Given the description of an element on the screen output the (x, y) to click on. 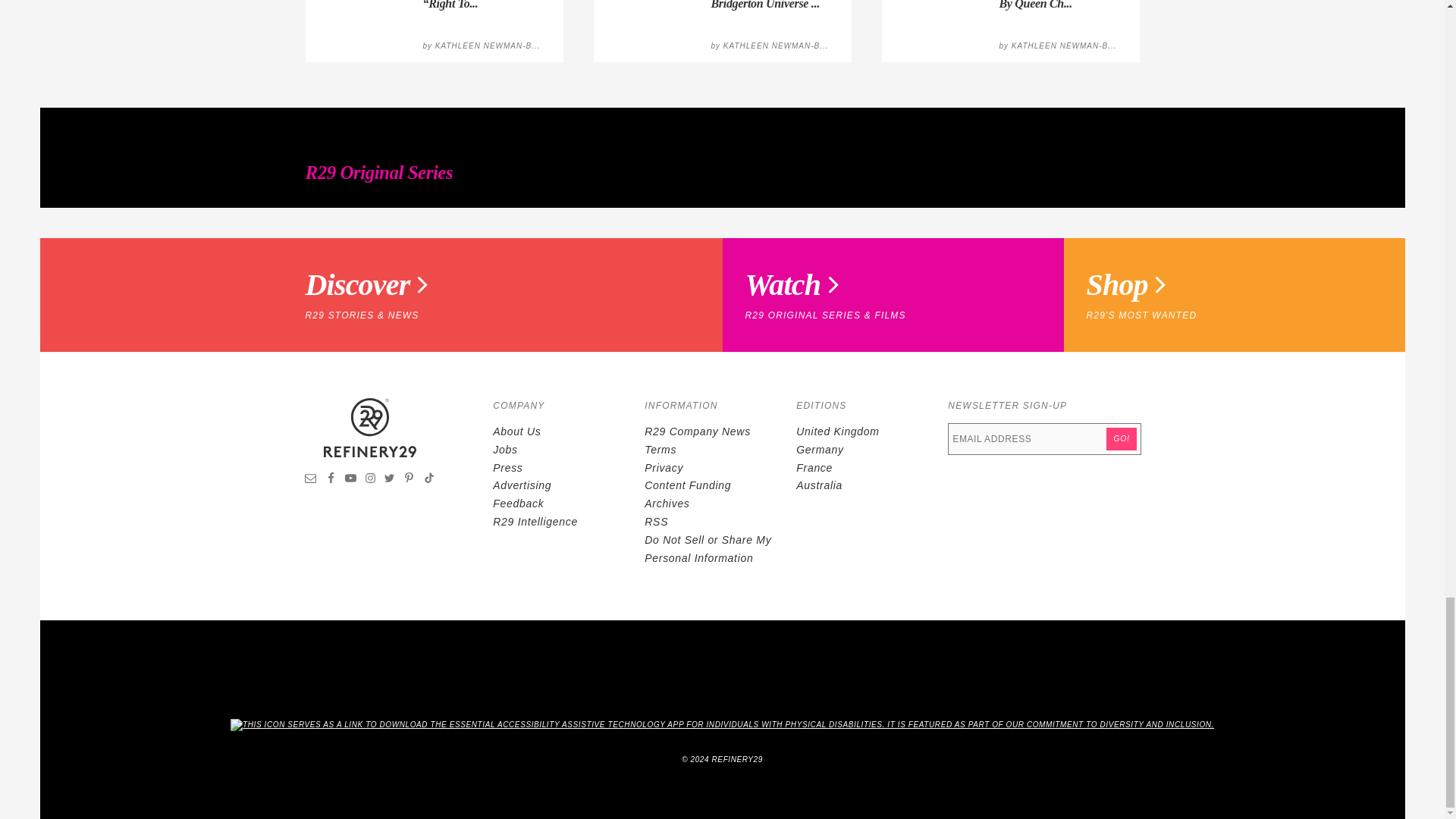
Visit Refinery29 on Pinterest (408, 480)
Visit Refinery29 on YouTube (350, 480)
Visit Refinery29 on TikTok (428, 480)
Visit Refinery29 on Twitter (389, 480)
Visit Refinery29 on Instagram (370, 480)
Visit Refinery29 on Facebook (331, 480)
Sign up for newsletters (310, 480)
